Given the description of an element on the screen output the (x, y) to click on. 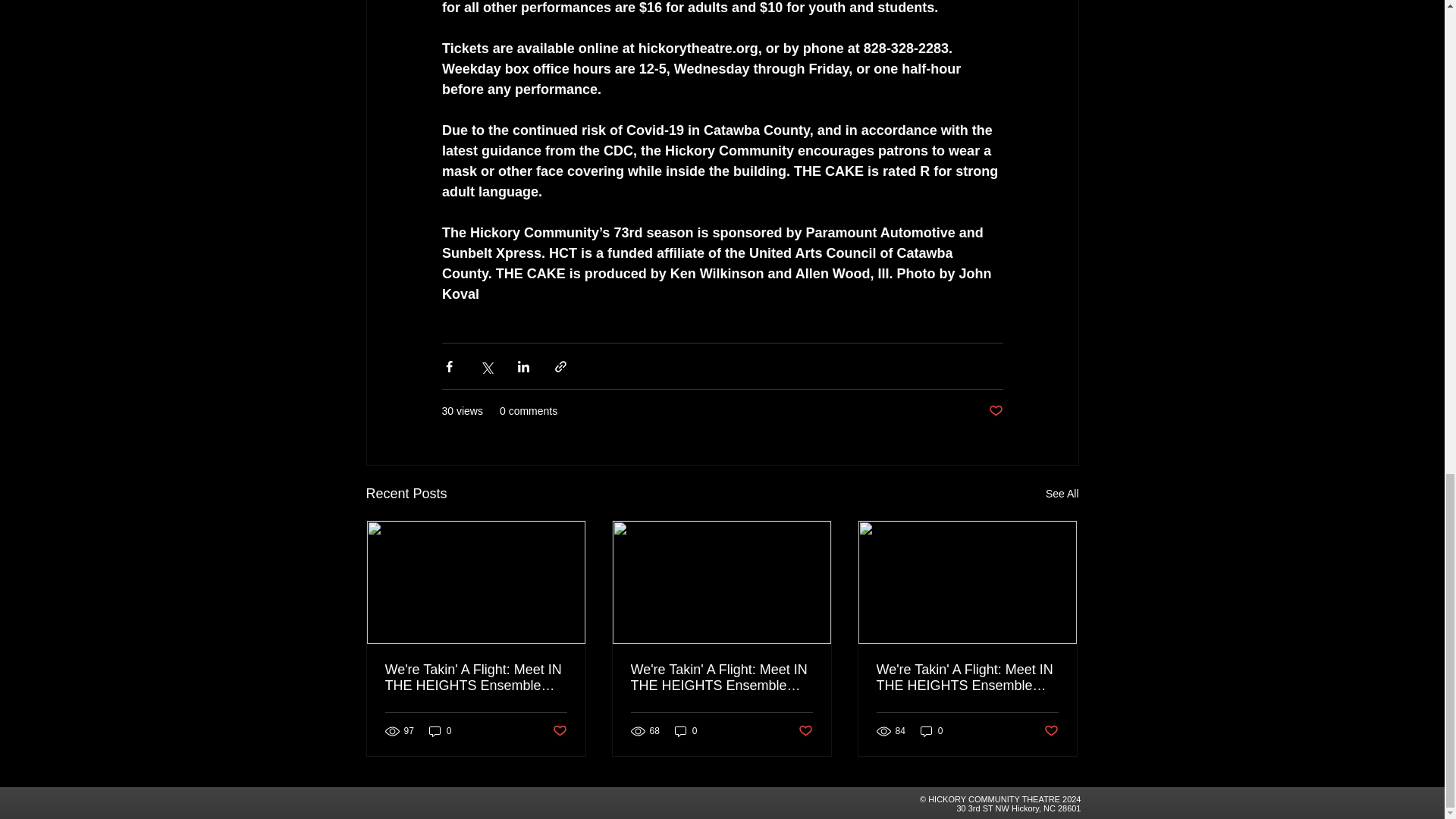
0 (685, 730)
0 (931, 730)
See All (1061, 494)
Post not marked as liked (804, 731)
Post not marked as liked (995, 411)
Post not marked as liked (558, 731)
Post not marked as liked (1050, 731)
